Given the description of an element on the screen output the (x, y) to click on. 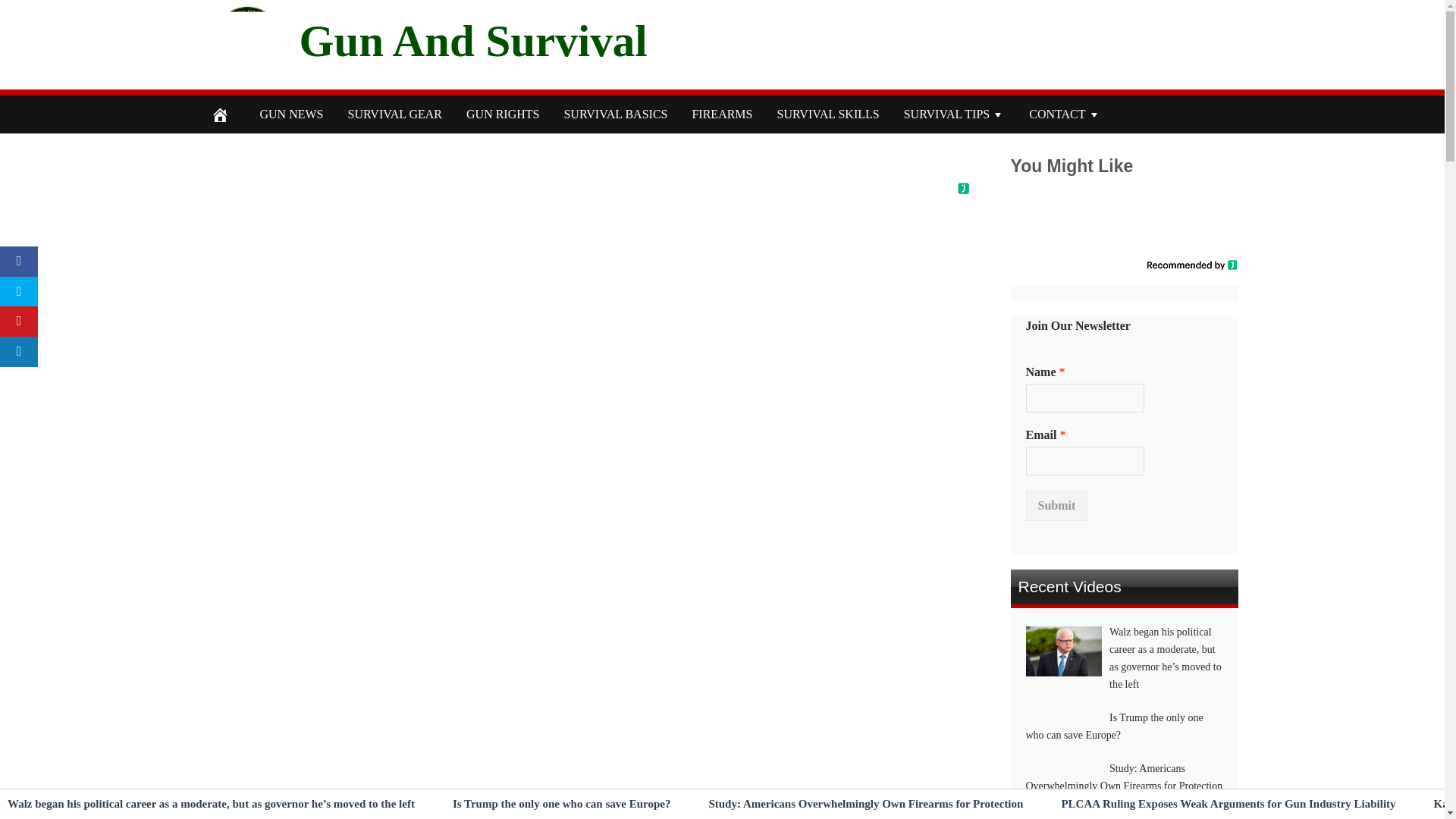
Study: Americans Overwhelmingly Own Firearms for Protection (865, 803)
SURVIVAL GEAR (394, 114)
Gun And Survival (472, 40)
Is Trump the only one who can save Europe? (561, 803)
FIREARMS (721, 114)
GUN RIGHTS (502, 114)
GUN NEWS (290, 114)
SURVIVAL BASICS (615, 114)
